Given the description of an element on the screen output the (x, y) to click on. 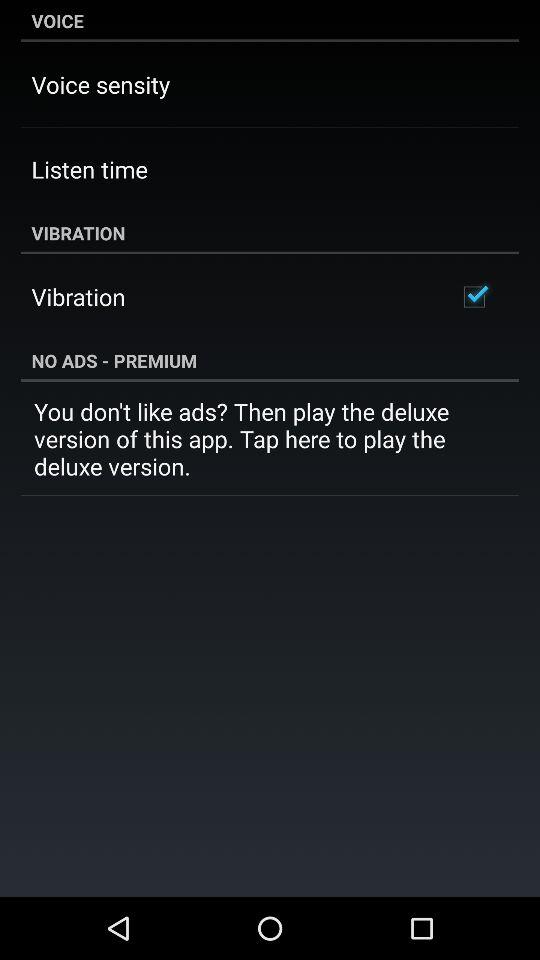
press the you don t icon (270, 438)
